Given the description of an element on the screen output the (x, y) to click on. 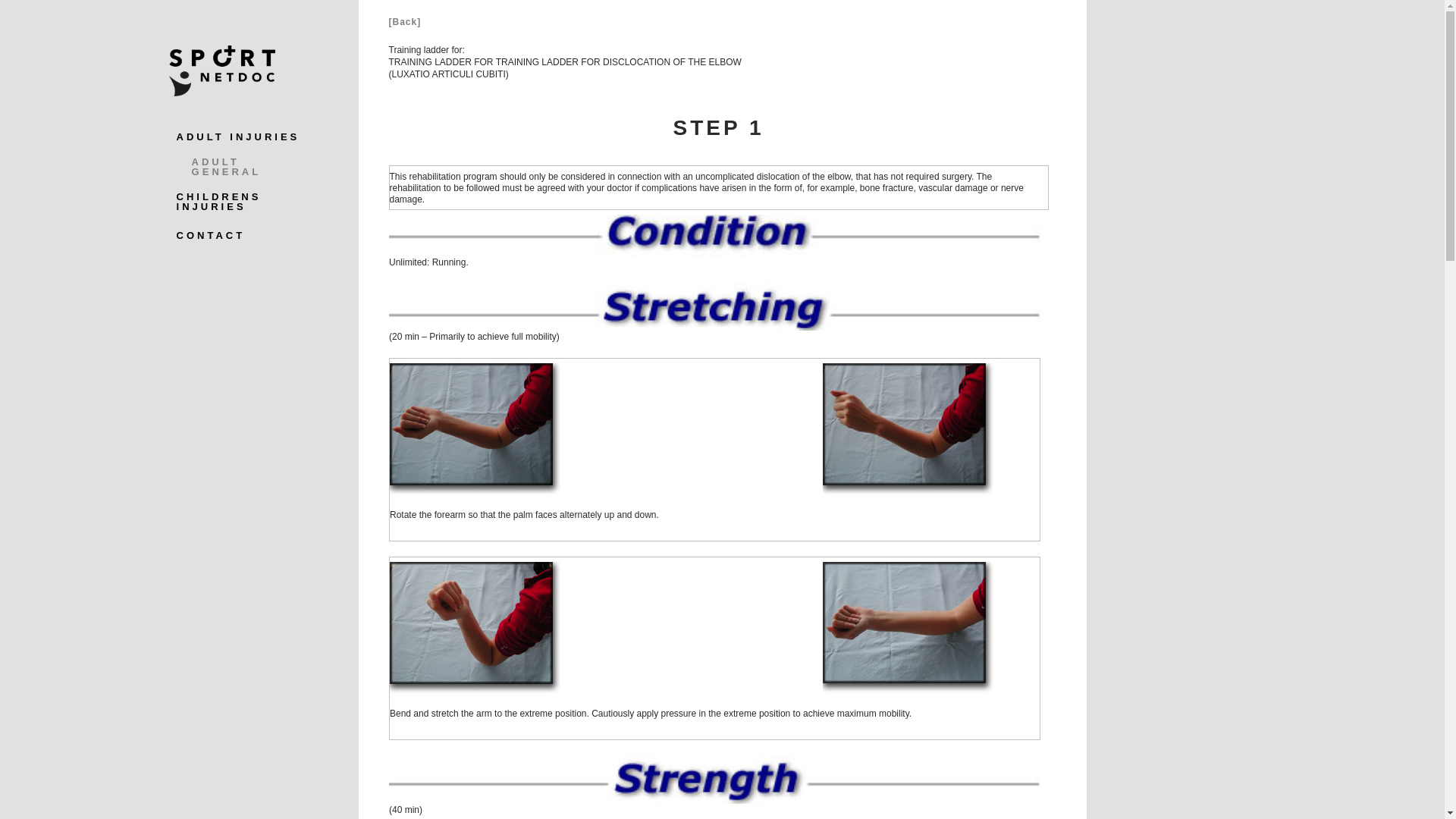
ADULT INJURIES (237, 136)
ADULT GENERAL (252, 166)
CONTACT (211, 235)
CHILDRENS INJURIES (244, 201)
